Given the description of an element on the screen output the (x, y) to click on. 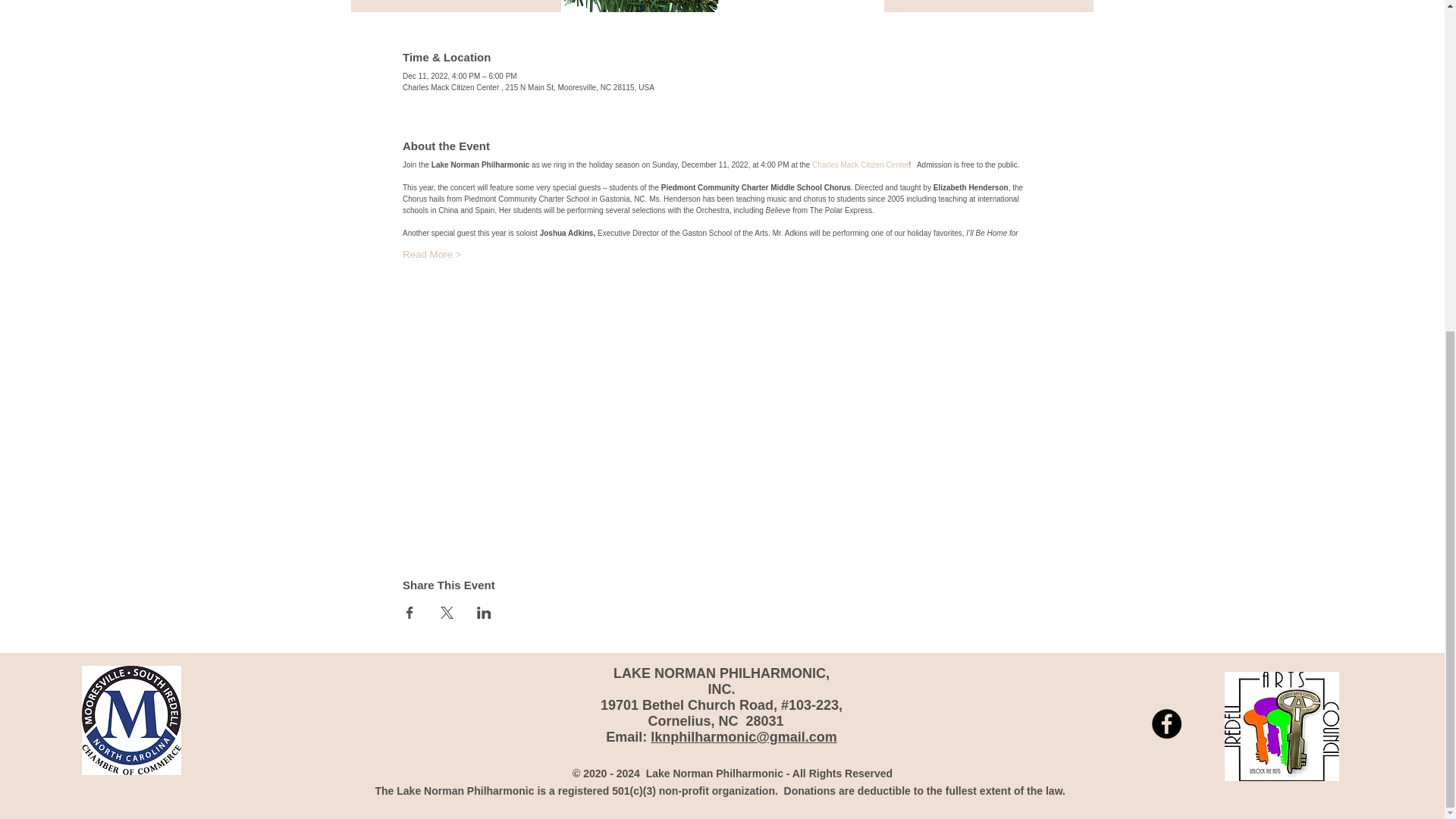
square logo - Irdell Arts Council.jpg.webp (1281, 726)
Chamber Logo 2010.jpg (130, 719)
Charles Mack Citizen Center (860, 164)
